Given the description of an element on the screen output the (x, y) to click on. 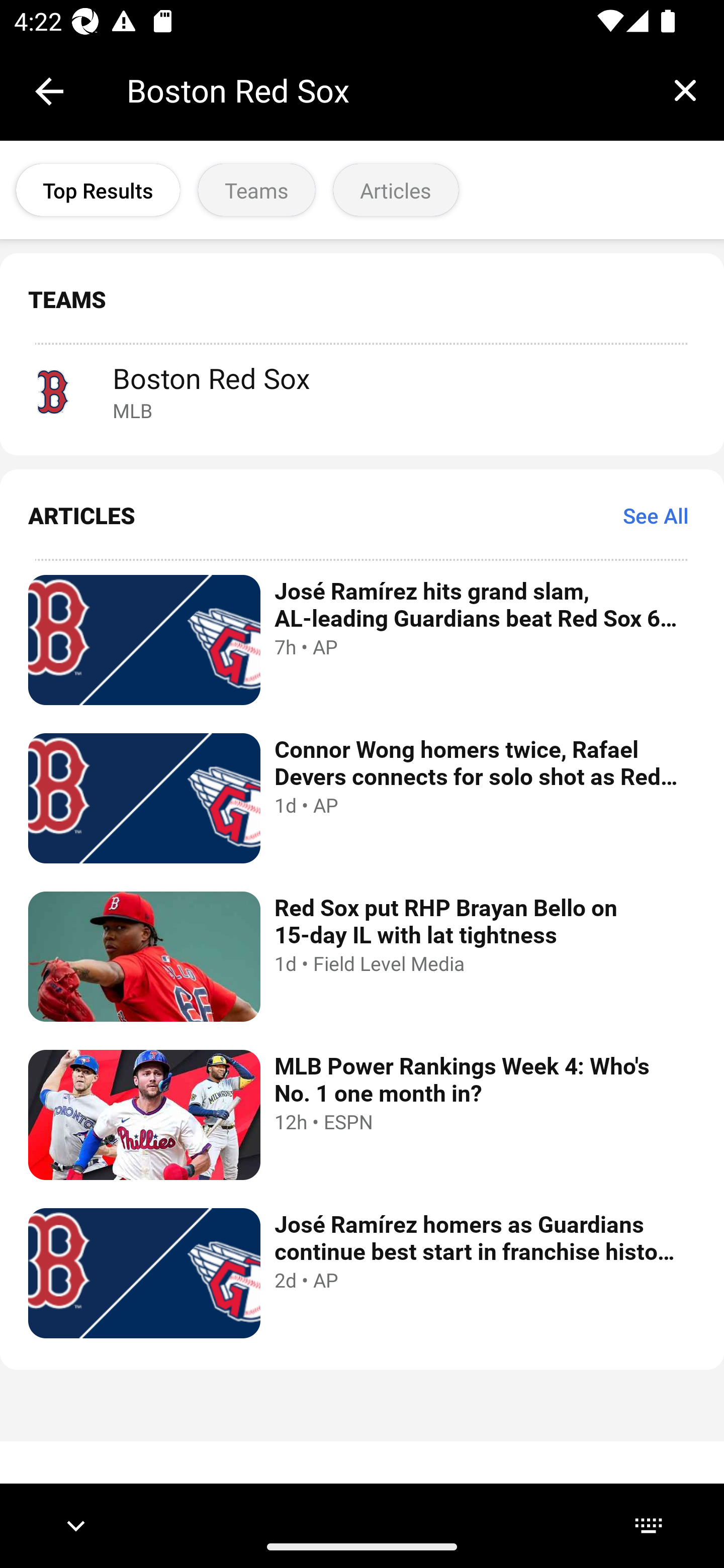
Collapse (49, 91)
Clear query (685, 89)
Boston Red Sox (386, 90)
Top Results (97, 190)
Teams (256, 190)
Articles (395, 190)
Boston Red Sox : MLB Boston Red Sox MLB (362, 390)
See All (655, 514)
